Given the description of an element on the screen output the (x, y) to click on. 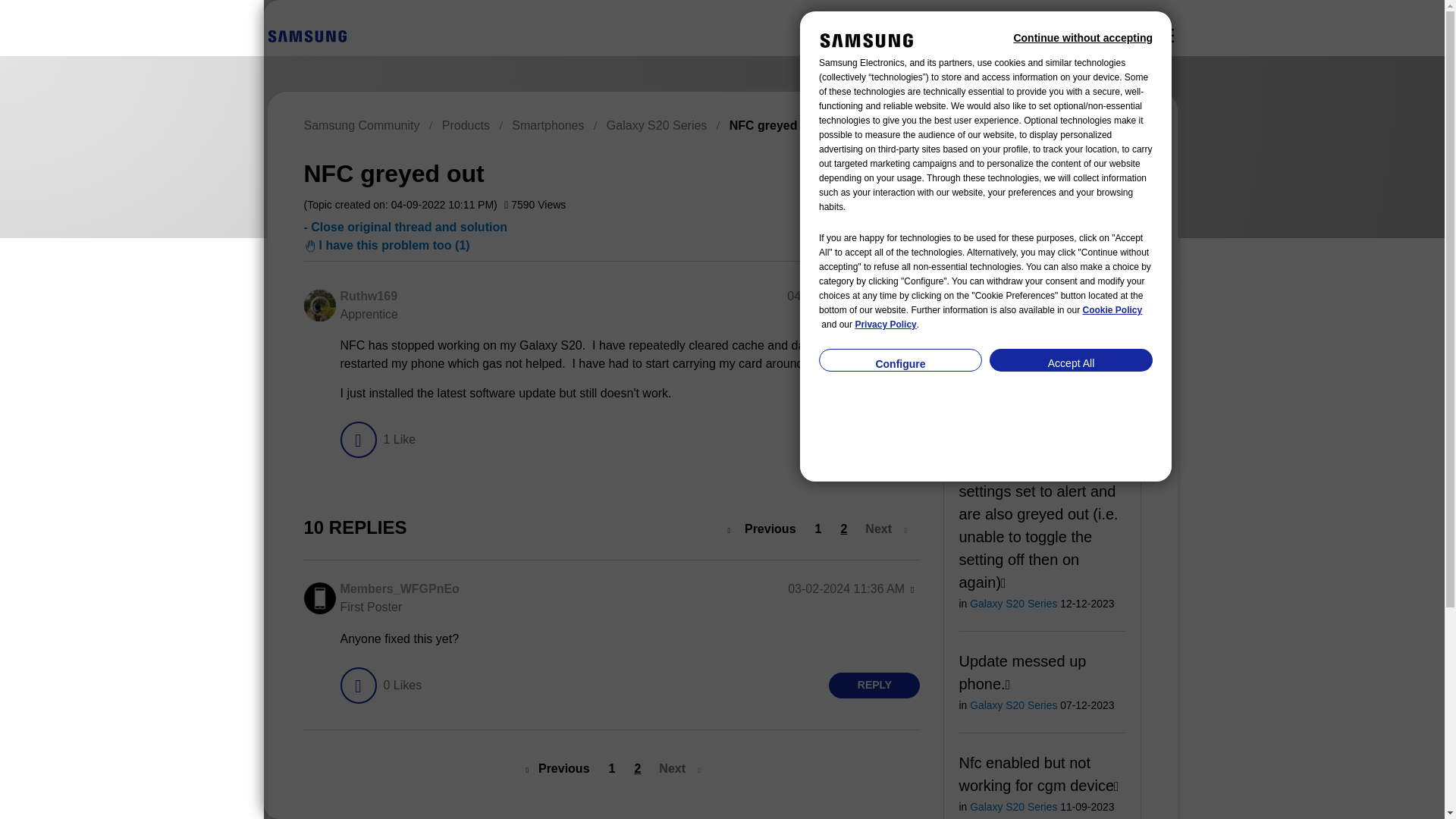
Galaxy S20 Series (657, 124)
Click here to give likes to this post. (357, 439)
Click here to see who gave likes to this post. (398, 439)
Show option menu (1072, 171)
Ruthw169 (318, 305)
English (306, 36)
Ruthw169 (368, 295)
Show option menu (912, 297)
Samsung Community (360, 124)
Previous (765, 528)
